Given the description of an element on the screen output the (x, y) to click on. 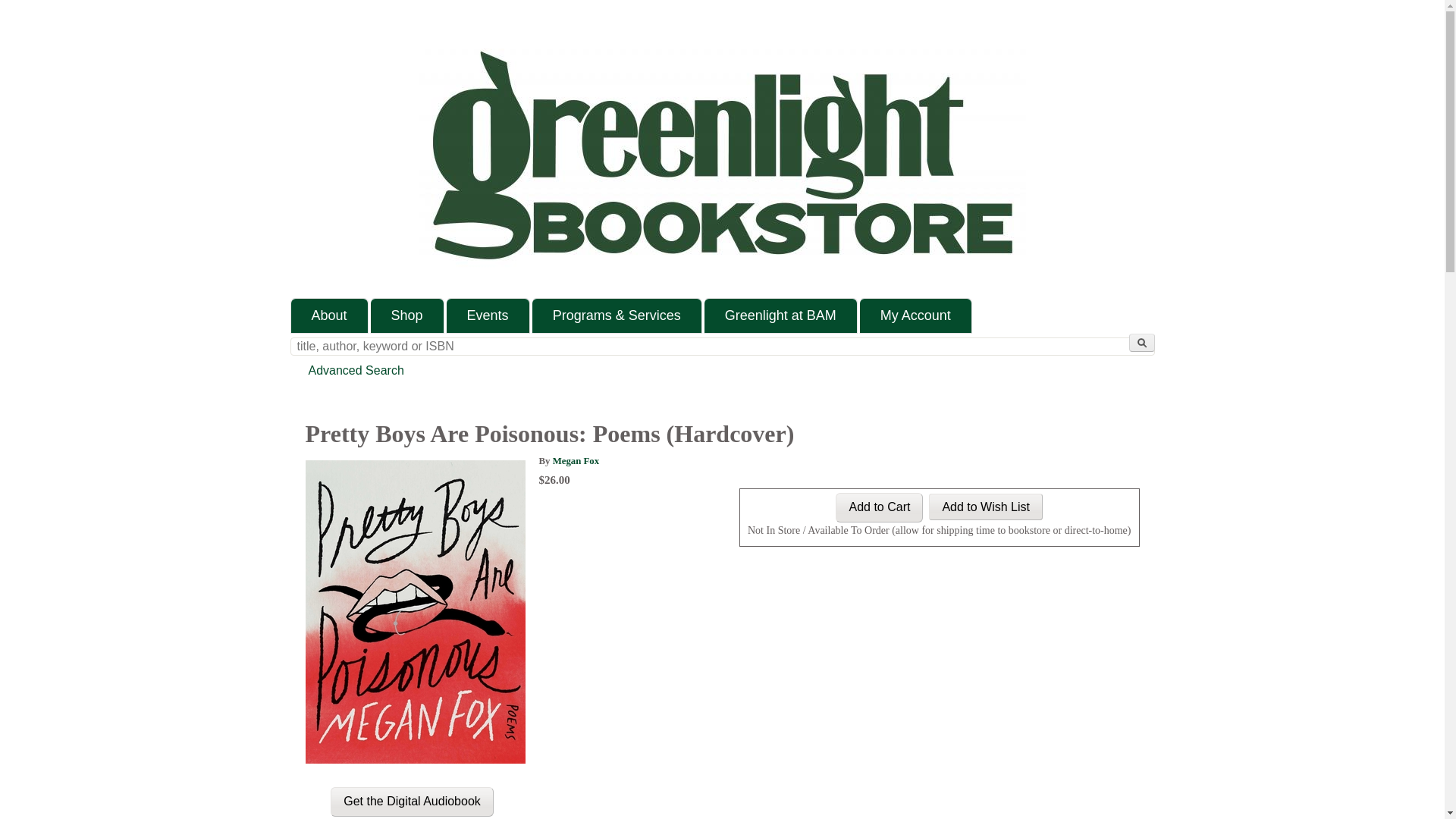
About (329, 315)
Search (1141, 342)
Shop (407, 315)
Add to Cart (879, 507)
Get the Digital Audiobook (411, 801)
